Given the description of an element on the screen output the (x, y) to click on. 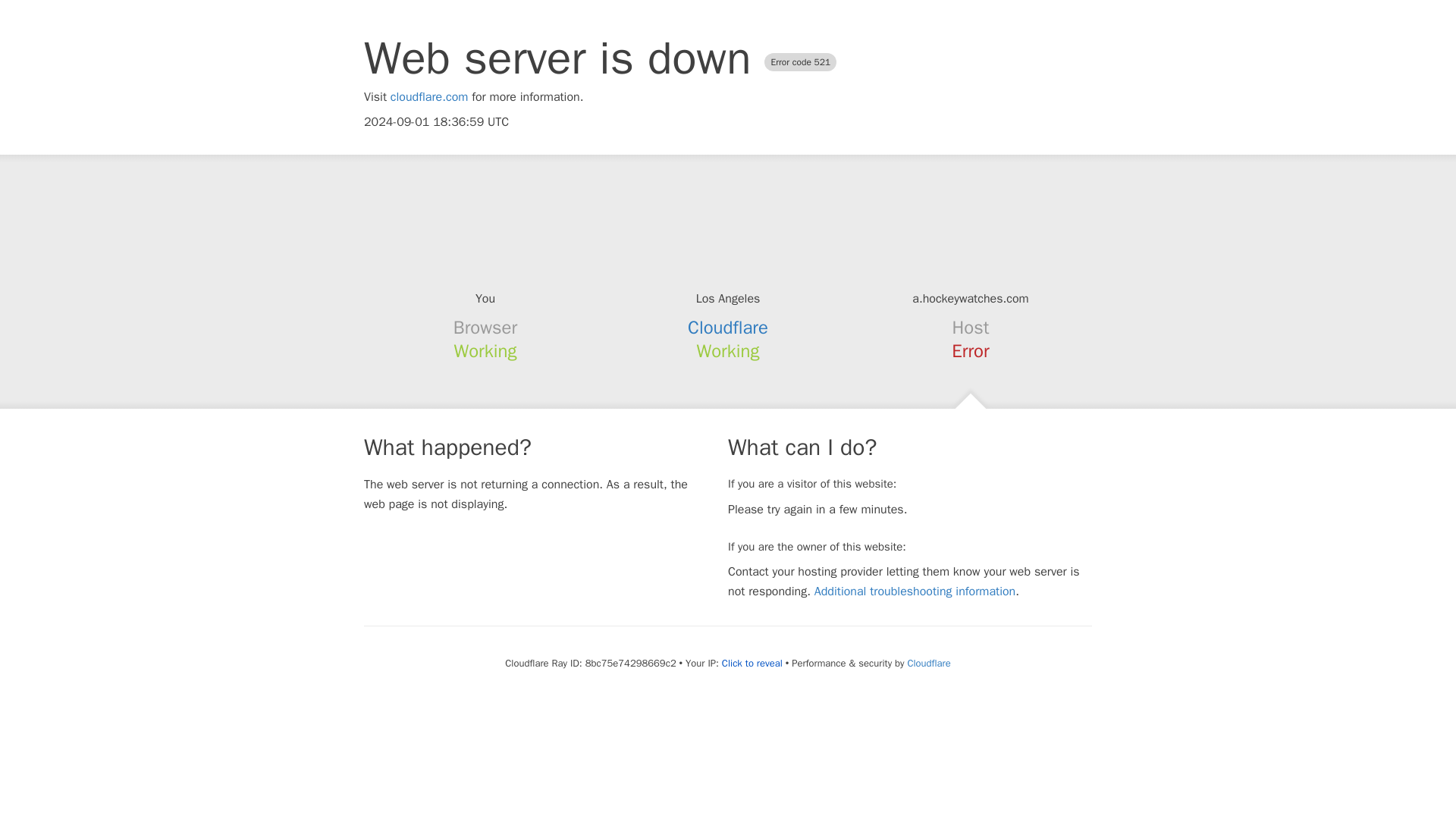
Cloudflare (928, 662)
Additional troubleshooting information (913, 590)
Cloudflare (727, 327)
Click to reveal (752, 663)
cloudflare.com (429, 96)
